Given the description of an element on the screen output the (x, y) to click on. 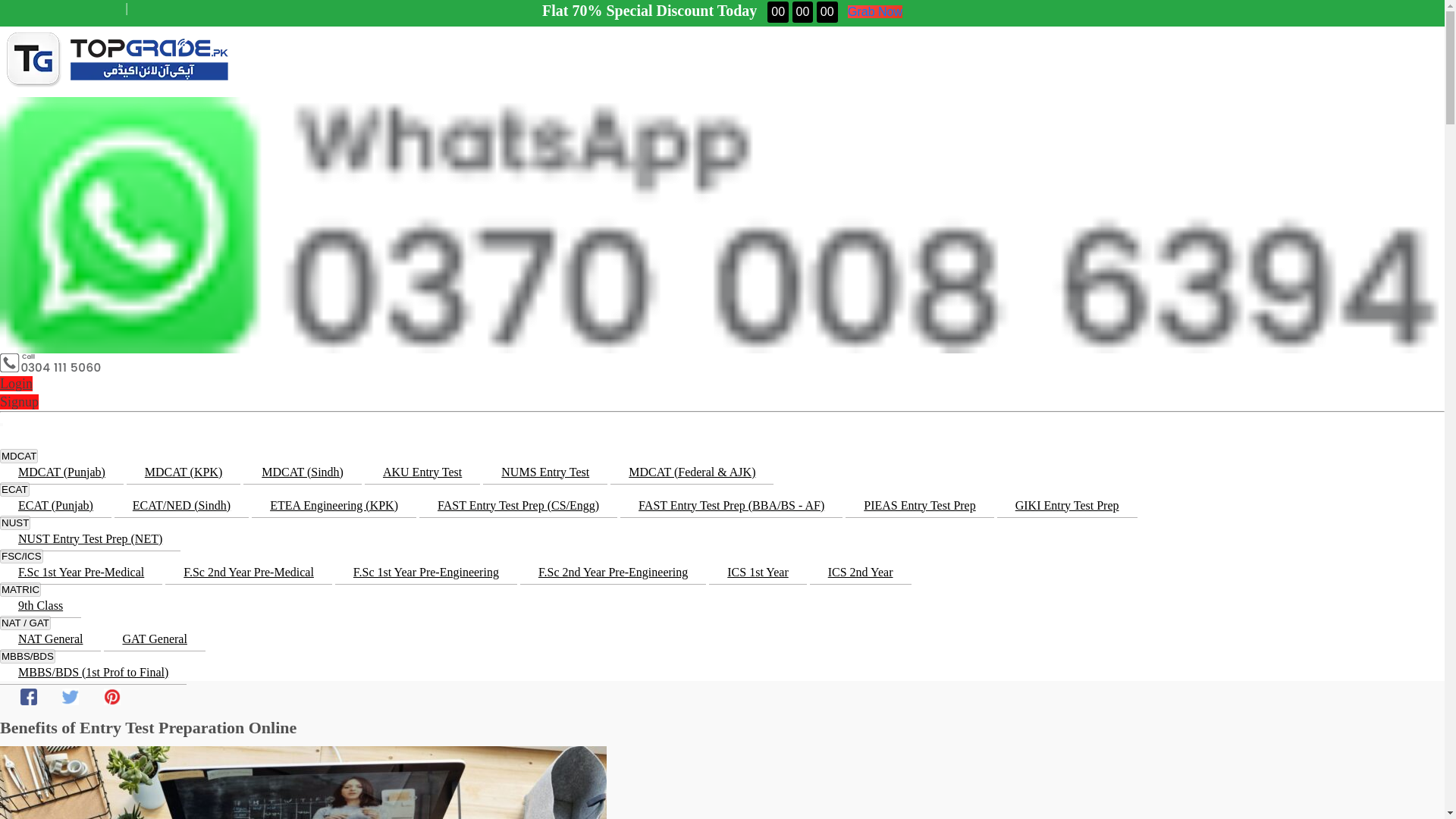
NAT General (50, 639)
GAT General (154, 639)
MDCAT (18, 455)
F.Sc 2nd Year Pre-Engineering (612, 572)
ICS 1st Year (757, 572)
ECAT (14, 489)
F.Sc 2nd Year Pre-Medical (248, 572)
Online Entry Test Preparation (116, 59)
F.Sc 1st Year Pre-Engineering (425, 572)
NUST (15, 522)
AKU Entry Test (422, 472)
Login (16, 383)
GIKI Entry Test Prep (1067, 505)
MATRIC (20, 589)
F.Sc 1st Year Pre-Medical (80, 572)
